Given the description of an element on the screen output the (x, y) to click on. 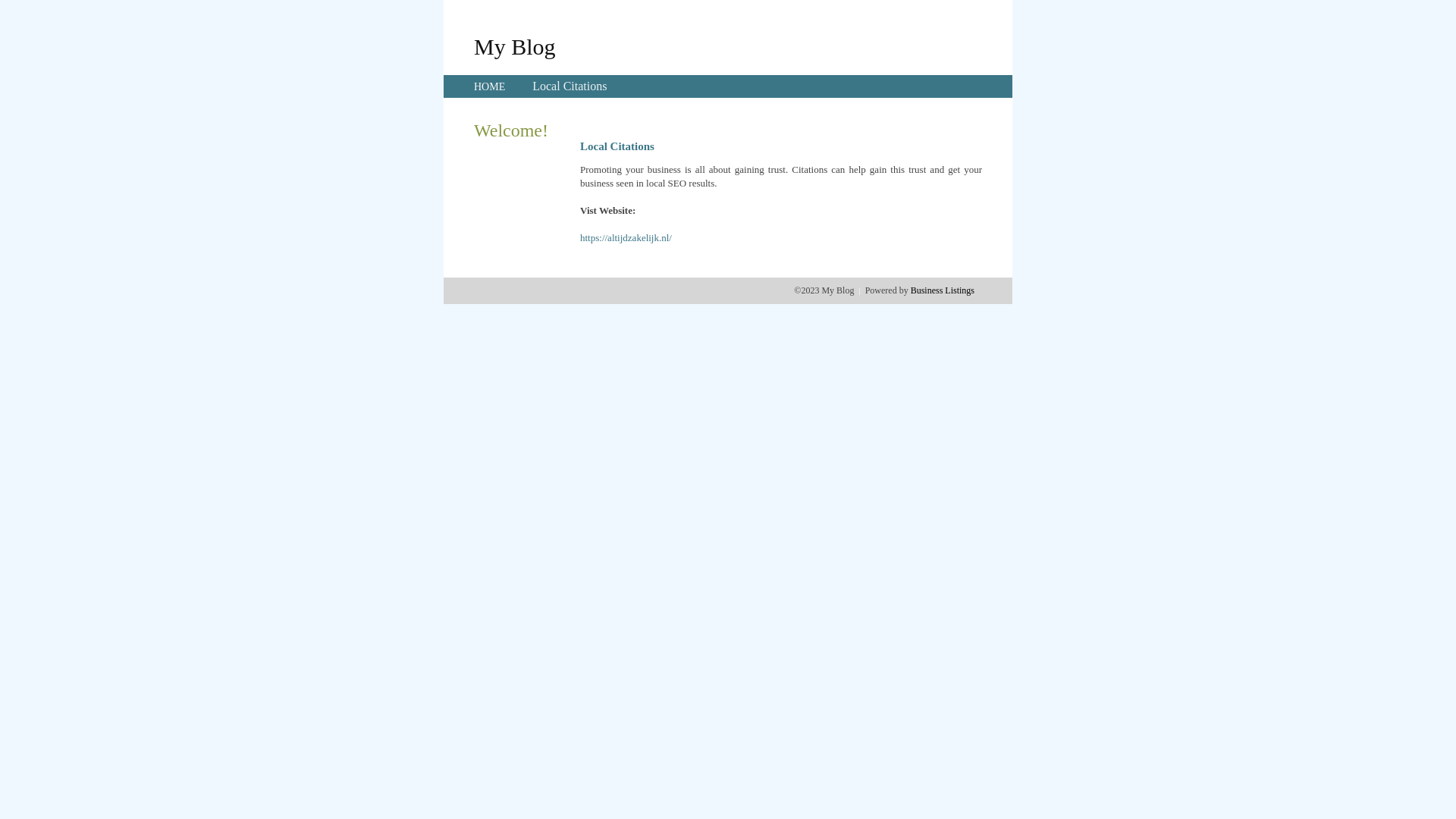
HOME Element type: text (489, 86)
My Blog Element type: text (514, 46)
https://altijdzakelijk.nl/ Element type: text (625, 237)
Local Citations Element type: text (569, 85)
Business Listings Element type: text (942, 290)
